Given the description of an element on the screen output the (x, y) to click on. 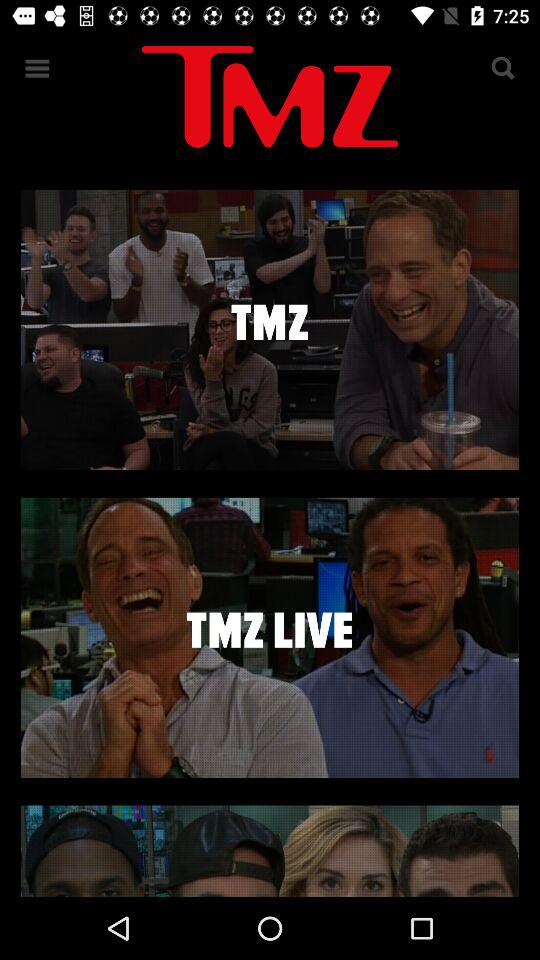
menu button (37, 68)
